Given the description of an element on the screen output the (x, y) to click on. 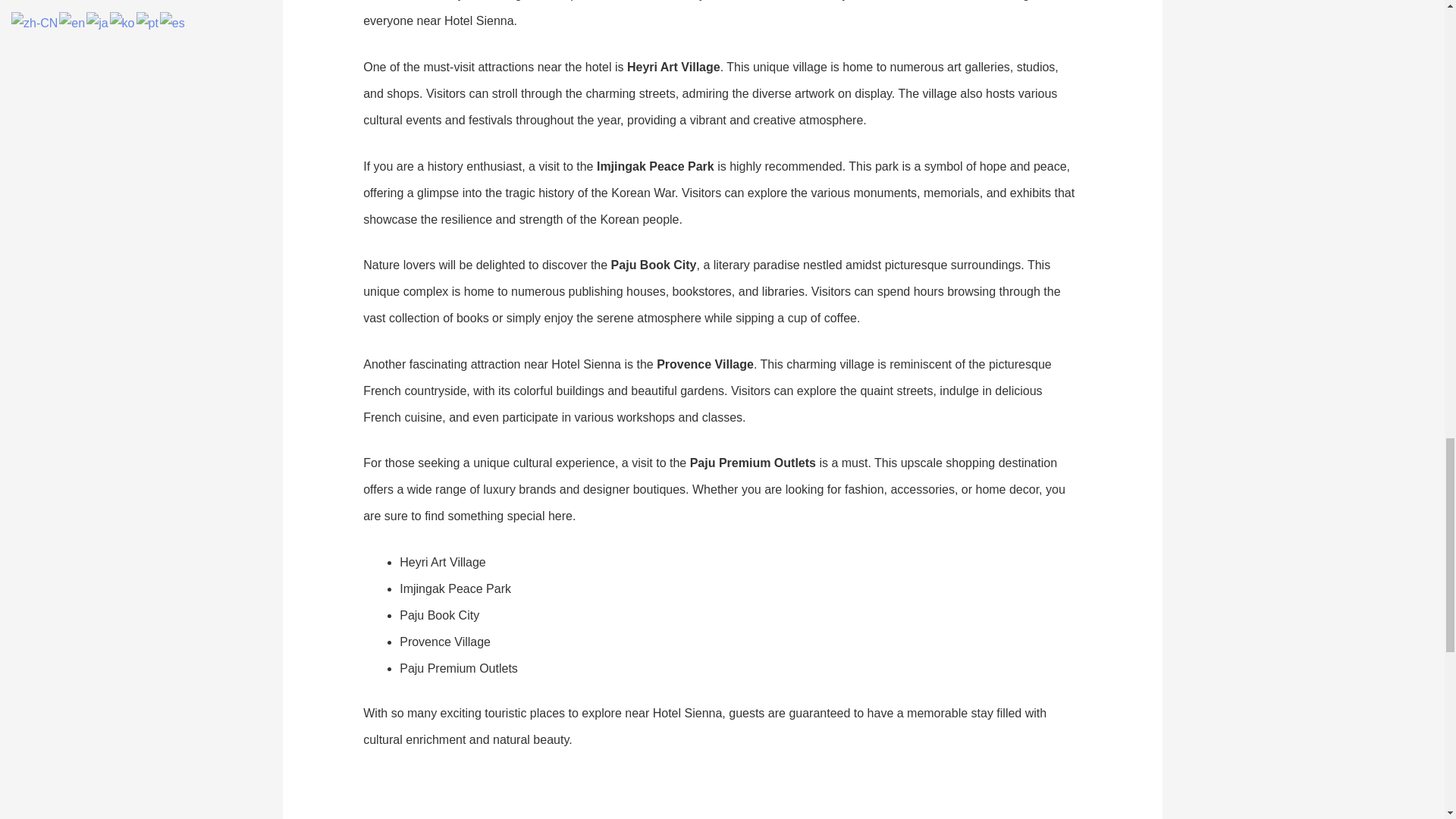
Hotel Sienna (954, 798)
Hotel Sienna (483, 798)
Hotel Sienna (718, 798)
